Given the description of an element on the screen output the (x, y) to click on. 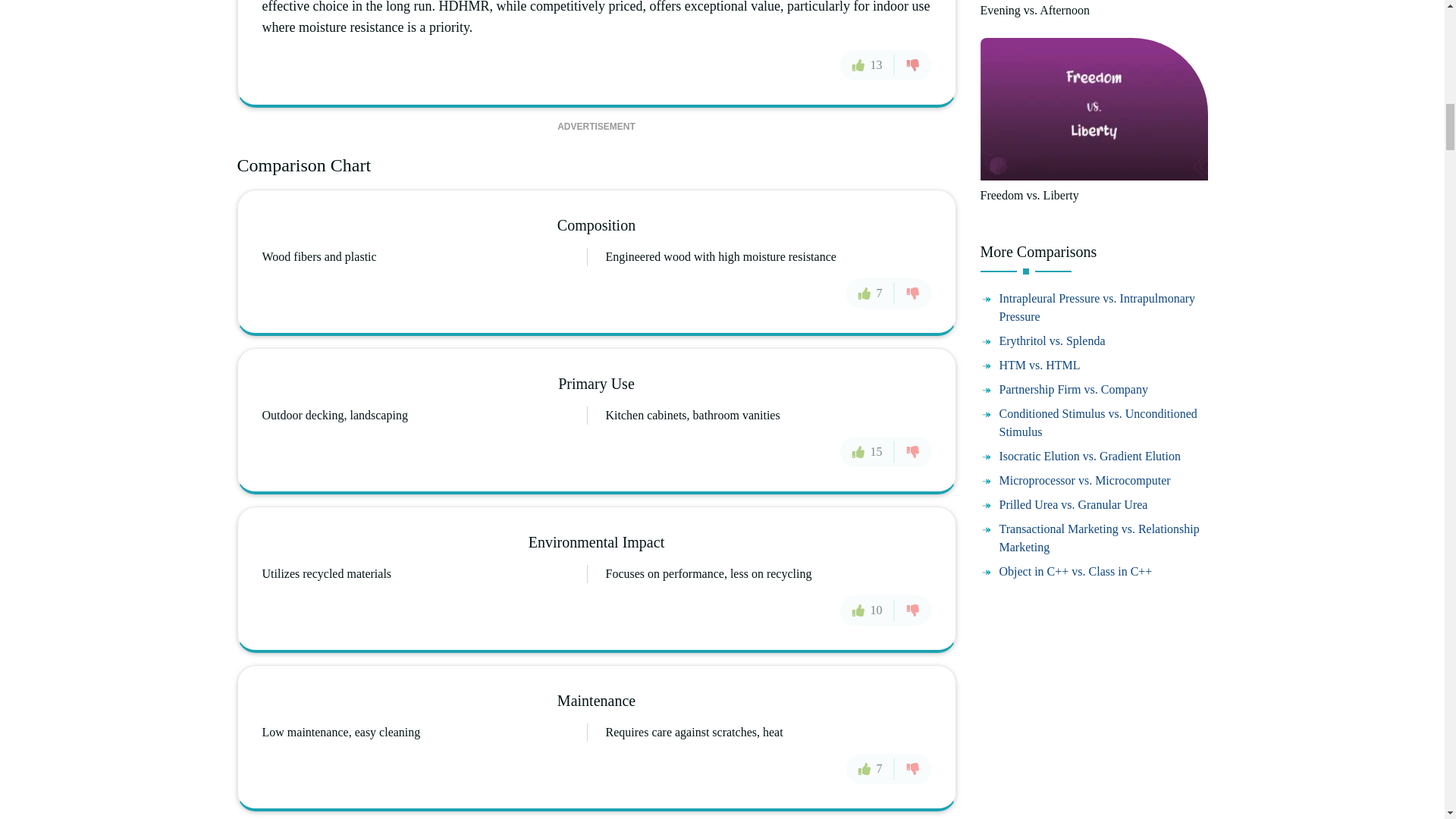
13 (867, 64)
15 (867, 451)
10 (867, 609)
7 (870, 292)
7 (870, 768)
